Given the description of an element on the screen output the (x, y) to click on. 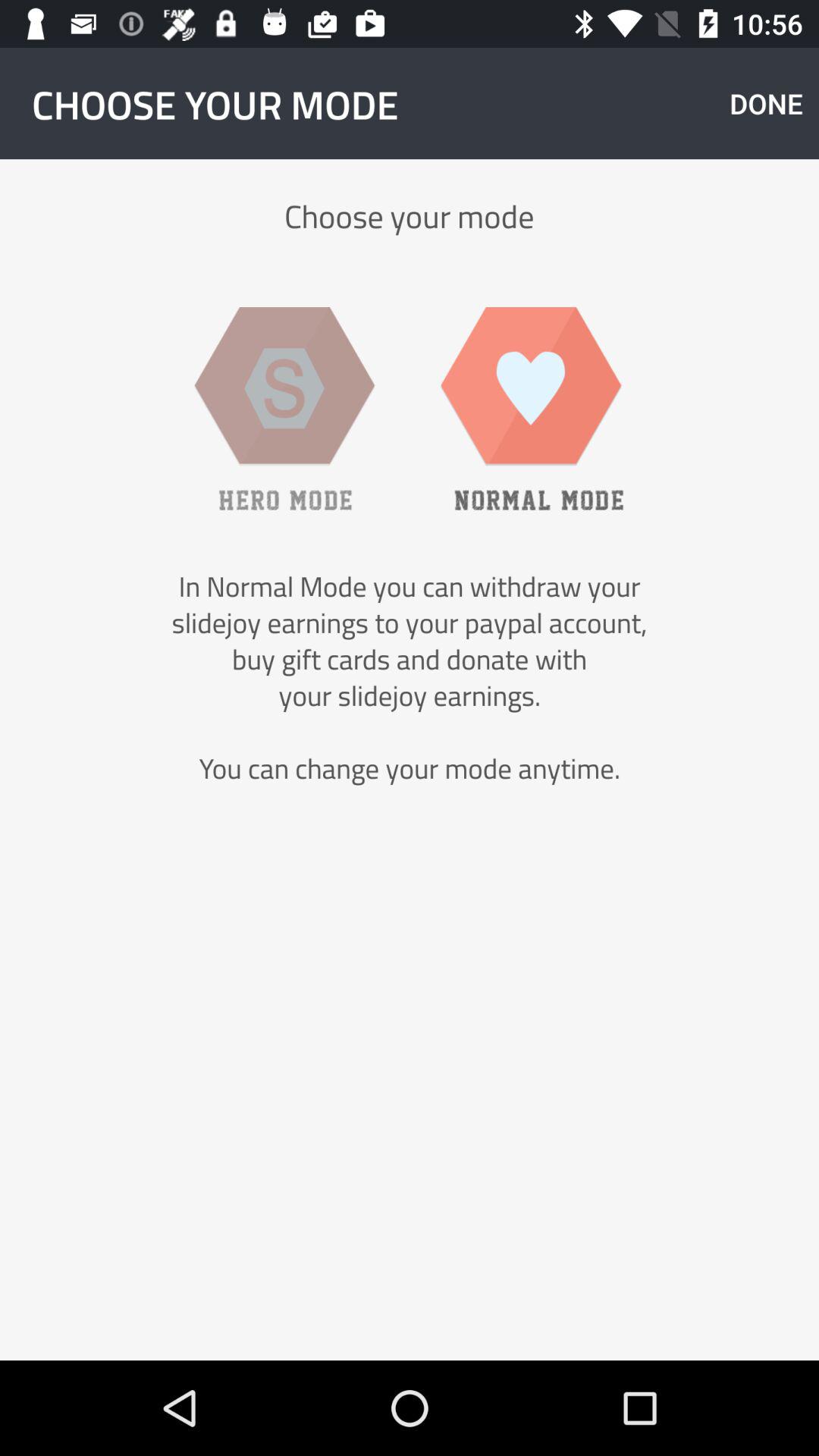
turn off icon above in normal mode icon (766, 103)
